Given the description of an element on the screen output the (x, y) to click on. 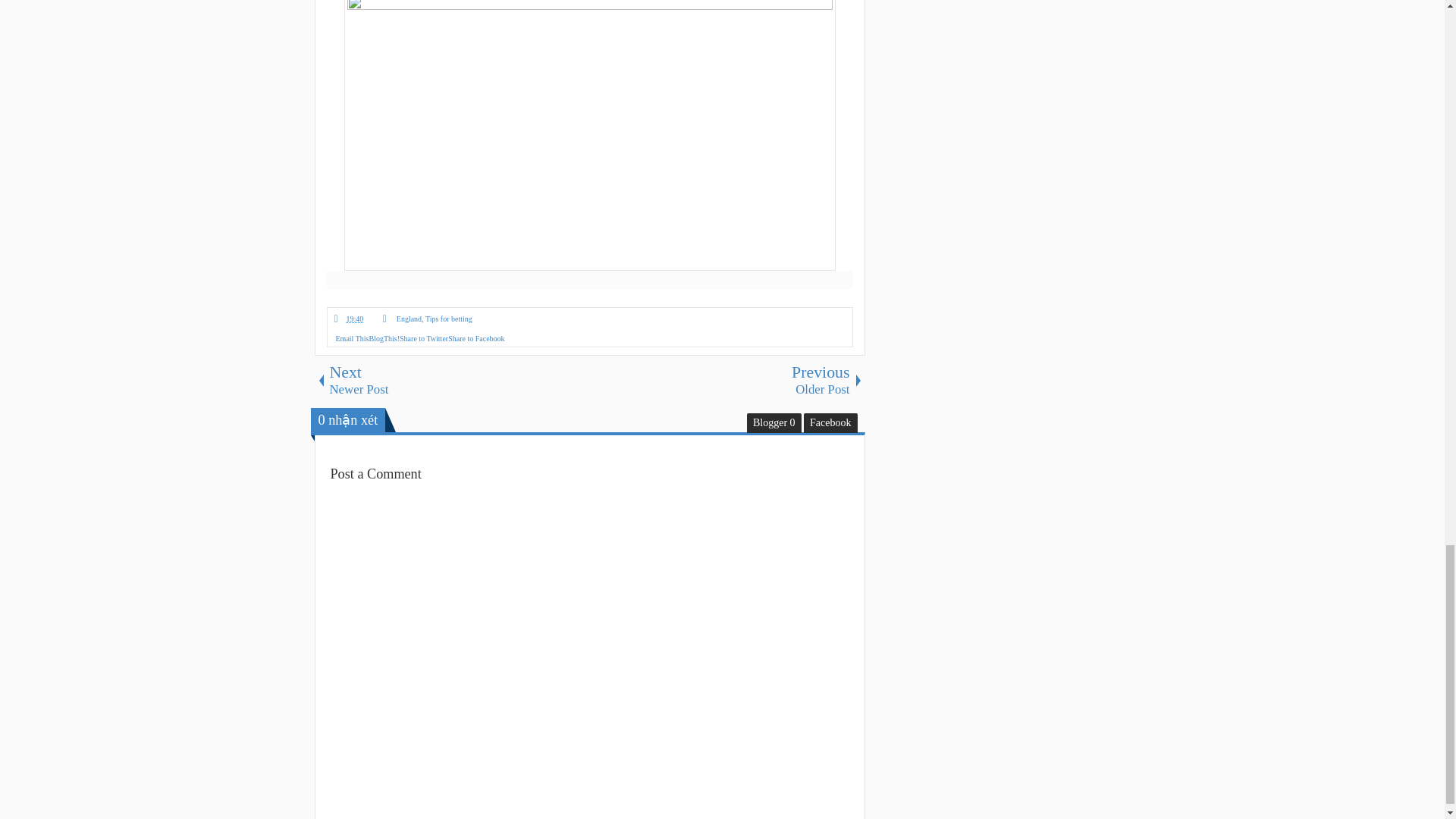
BlogThis! (726, 379)
19:40 (383, 338)
Email This (349, 319)
Share to Facebook (351, 338)
Tips for betting (475, 338)
permanent link (448, 318)
Email This (349, 319)
Share to Twitter (351, 338)
England (423, 338)
